Given the description of an element on the screen output the (x, y) to click on. 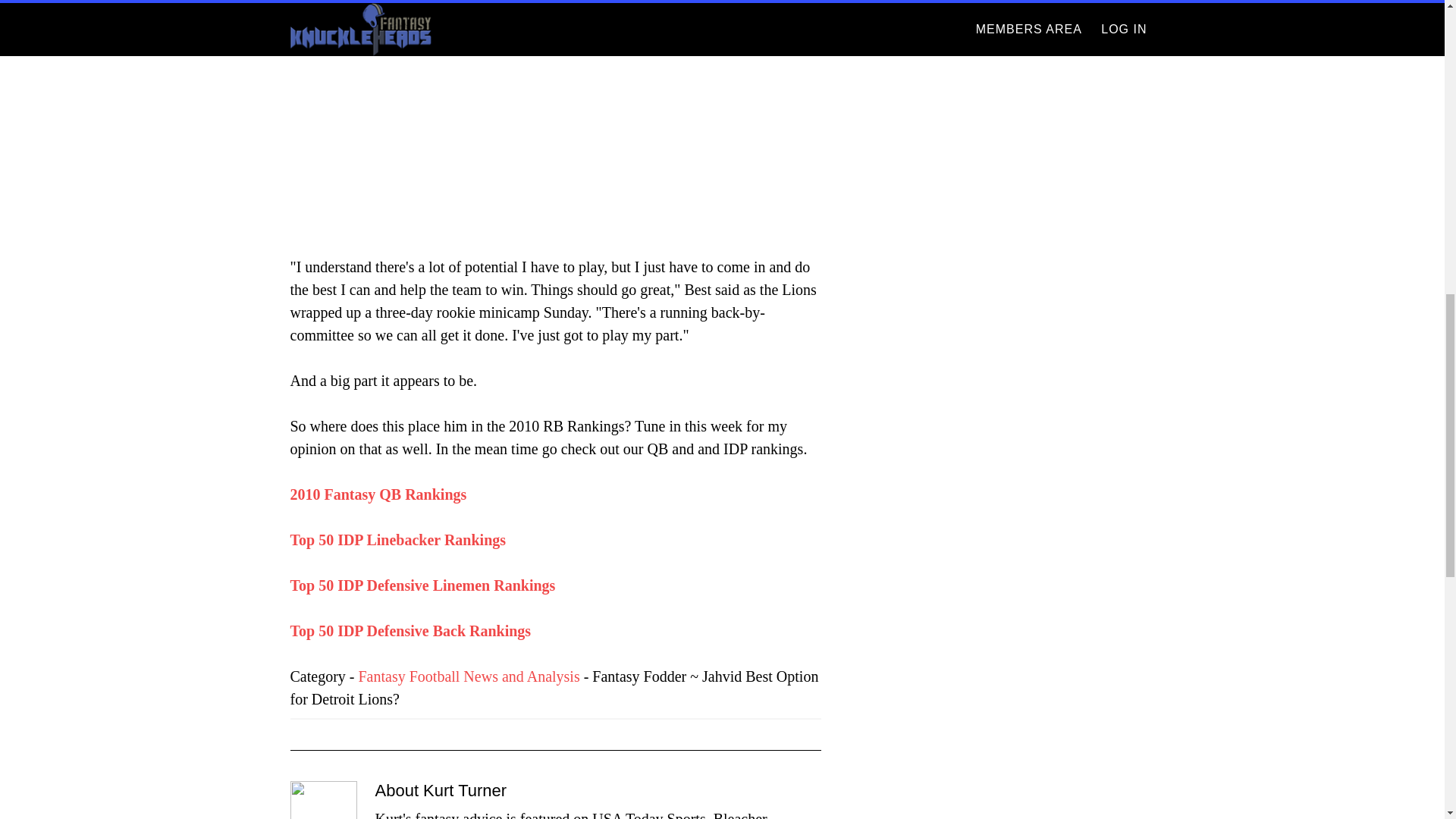
Top 50 IDP Defensive Back Rankings (410, 630)
2010 IDP Defensive Lineman Rankings (421, 585)
Top 50 IDP Defensive Linemen Rankings (421, 585)
Top 50 IDP Linebacker Rankings (397, 539)
2010 Fantasy QB Rankings (377, 494)
2010 IDP Defensive Back Rankings (410, 630)
2010 IDP Linebacker Rankings (397, 539)
2010 Fantasy QB Rankings (377, 494)
Advertisement (555, 120)
Fantasy Football News and Analysis (468, 676)
